Given the description of an element on the screen output the (x, y) to click on. 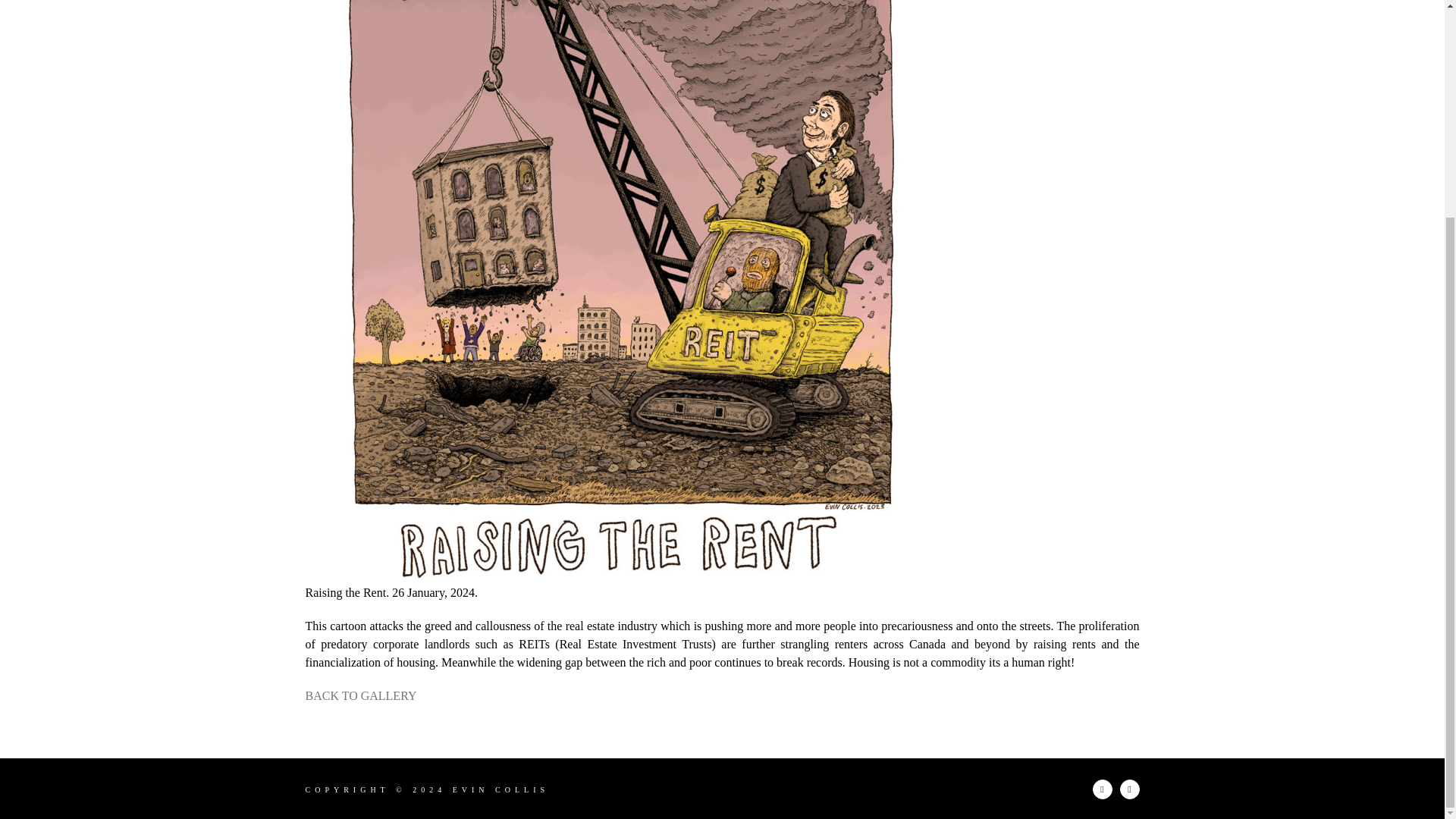
Instagram (1102, 789)
BACK TO GALLERY (360, 695)
Vimeo (1128, 789)
